Given the description of an element on the screen output the (x, y) to click on. 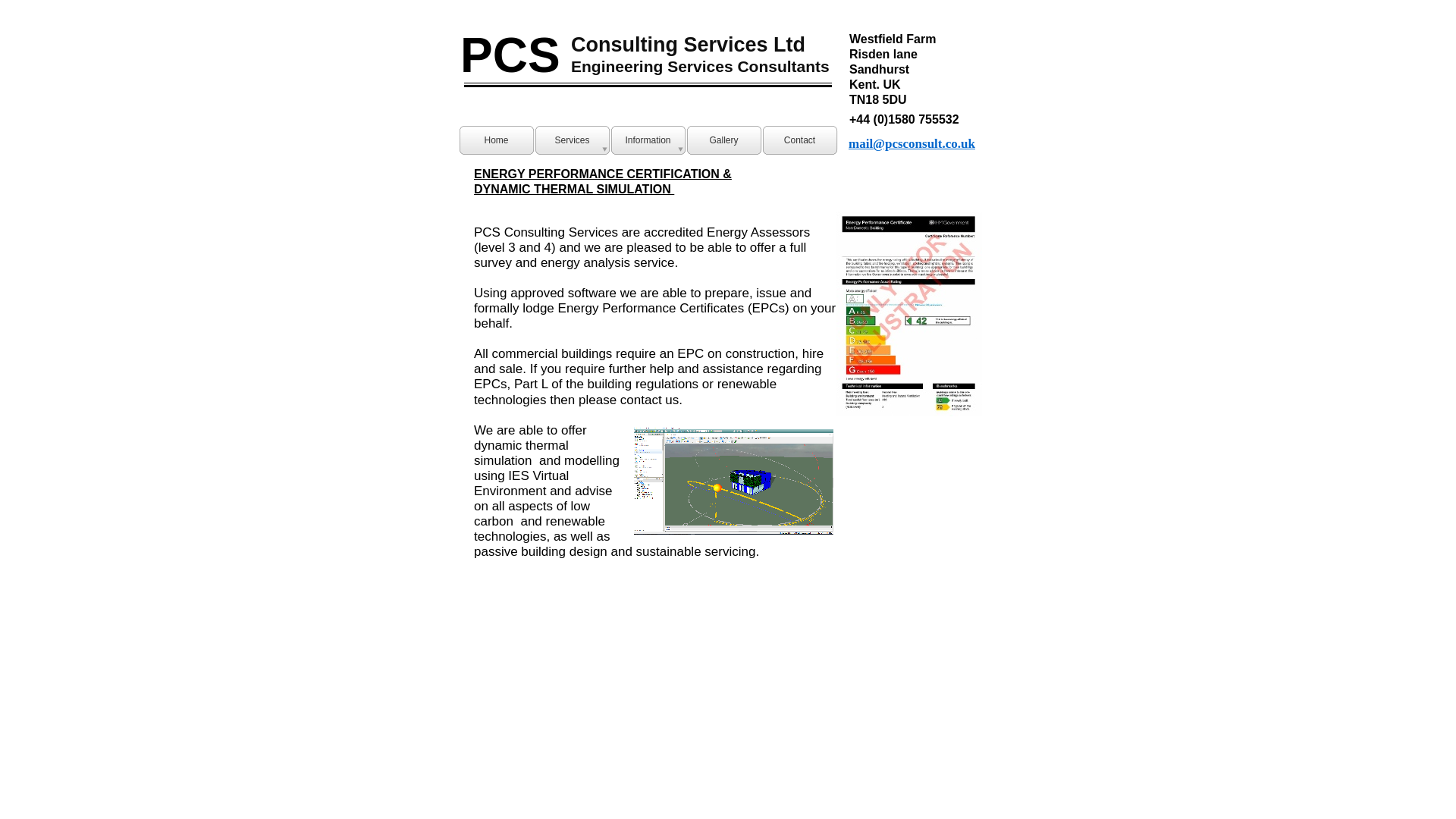
Contact (799, 140)
Services (572, 140)
Gallery (723, 140)
Information (647, 140)
Home (496, 140)
